Given the description of an element on the screen output the (x, y) to click on. 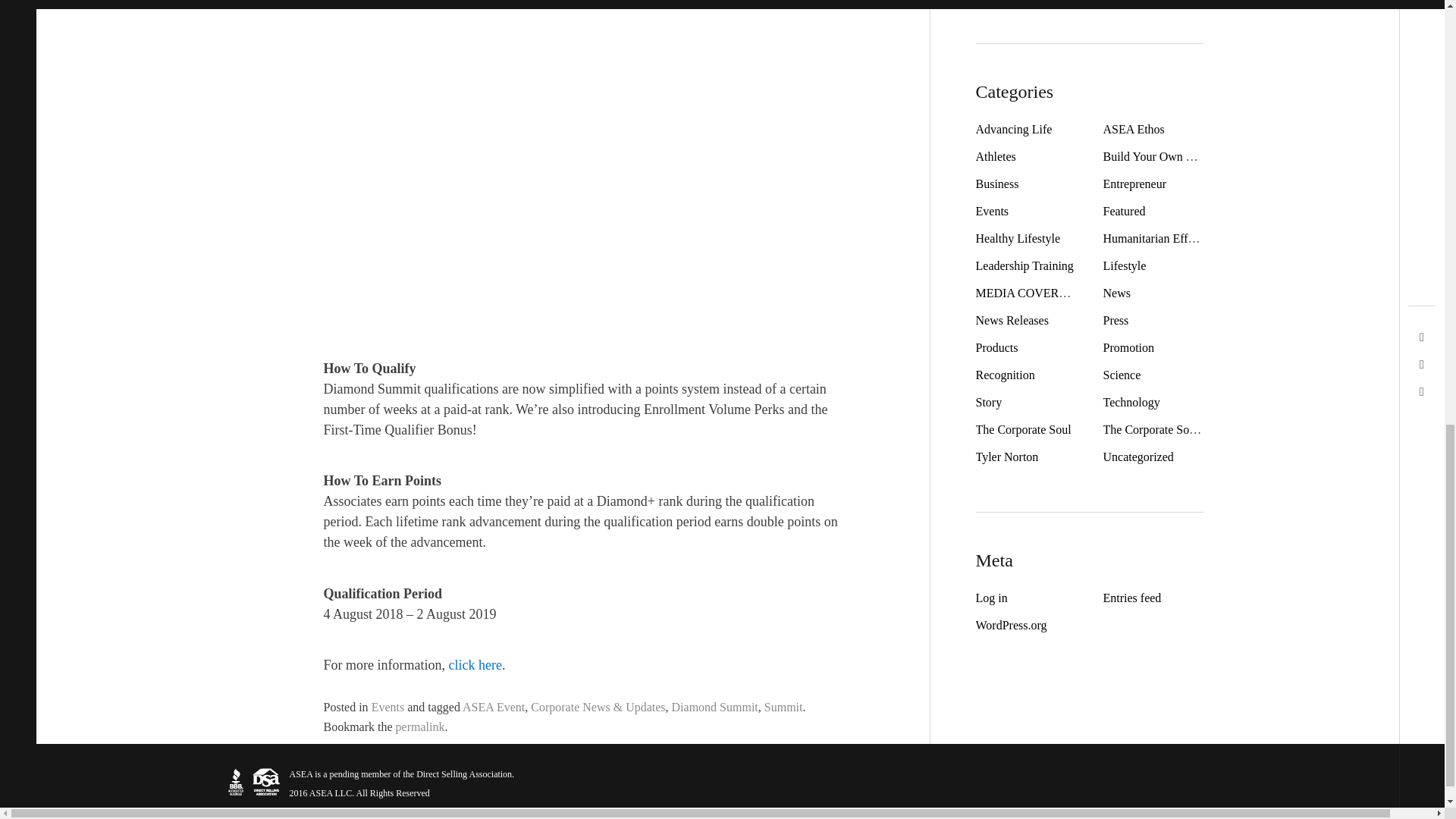
Summit (783, 707)
Diamond Summit (714, 707)
permalink (420, 726)
ASEA Event (493, 707)
Advancing Life (1013, 128)
click here (474, 665)
Events (387, 707)
